Given the description of an element on the screen output the (x, y) to click on. 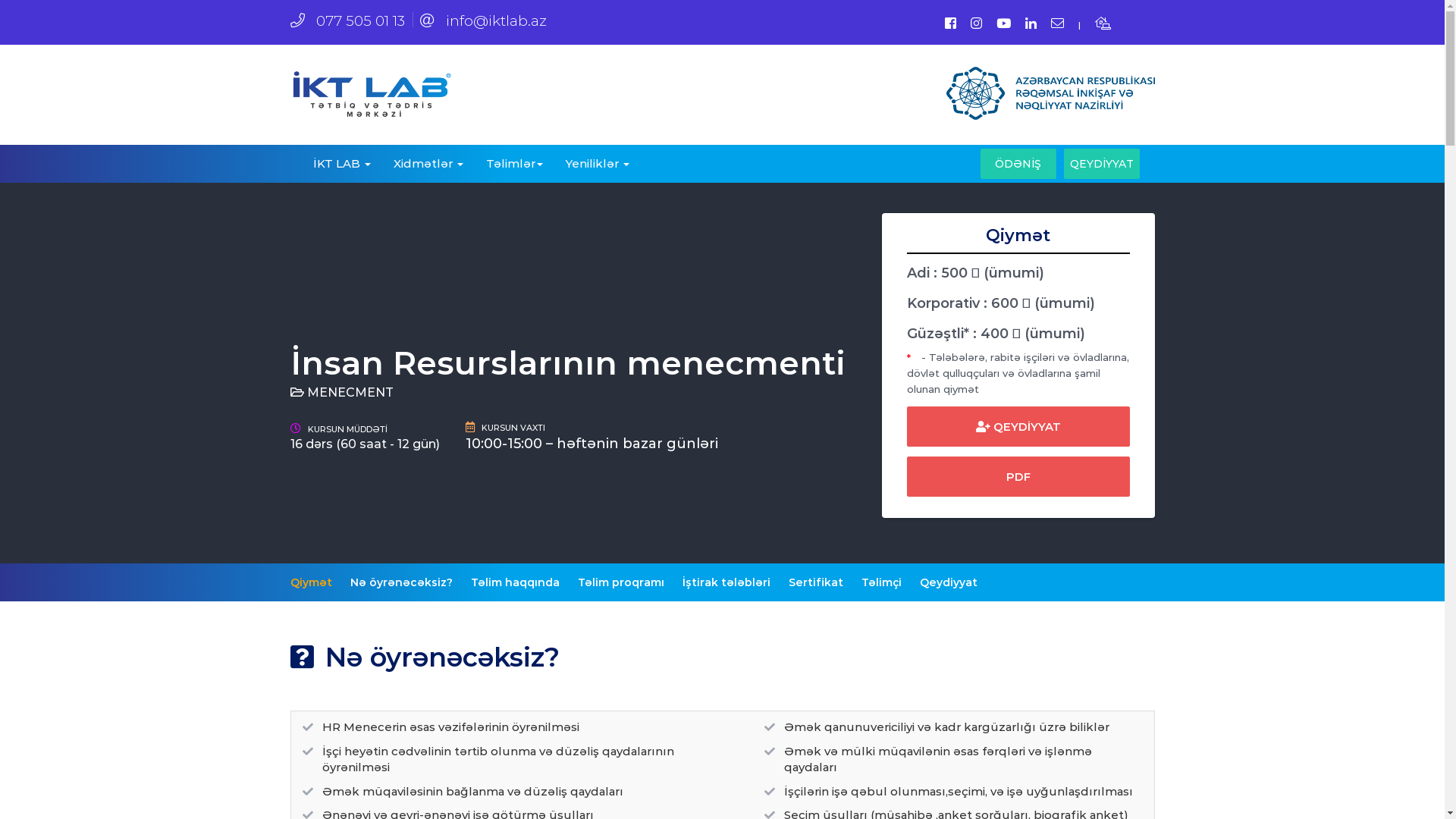
Sertifikat Element type: text (815, 582)
077 505 01 13 Element type: text (346, 20)
PDF Element type: text (1017, 476)
Qeydiyyat Element type: text (947, 582)
info@iktlab.az Element type: text (483, 20)
